Given the description of an element on the screen output the (x, y) to click on. 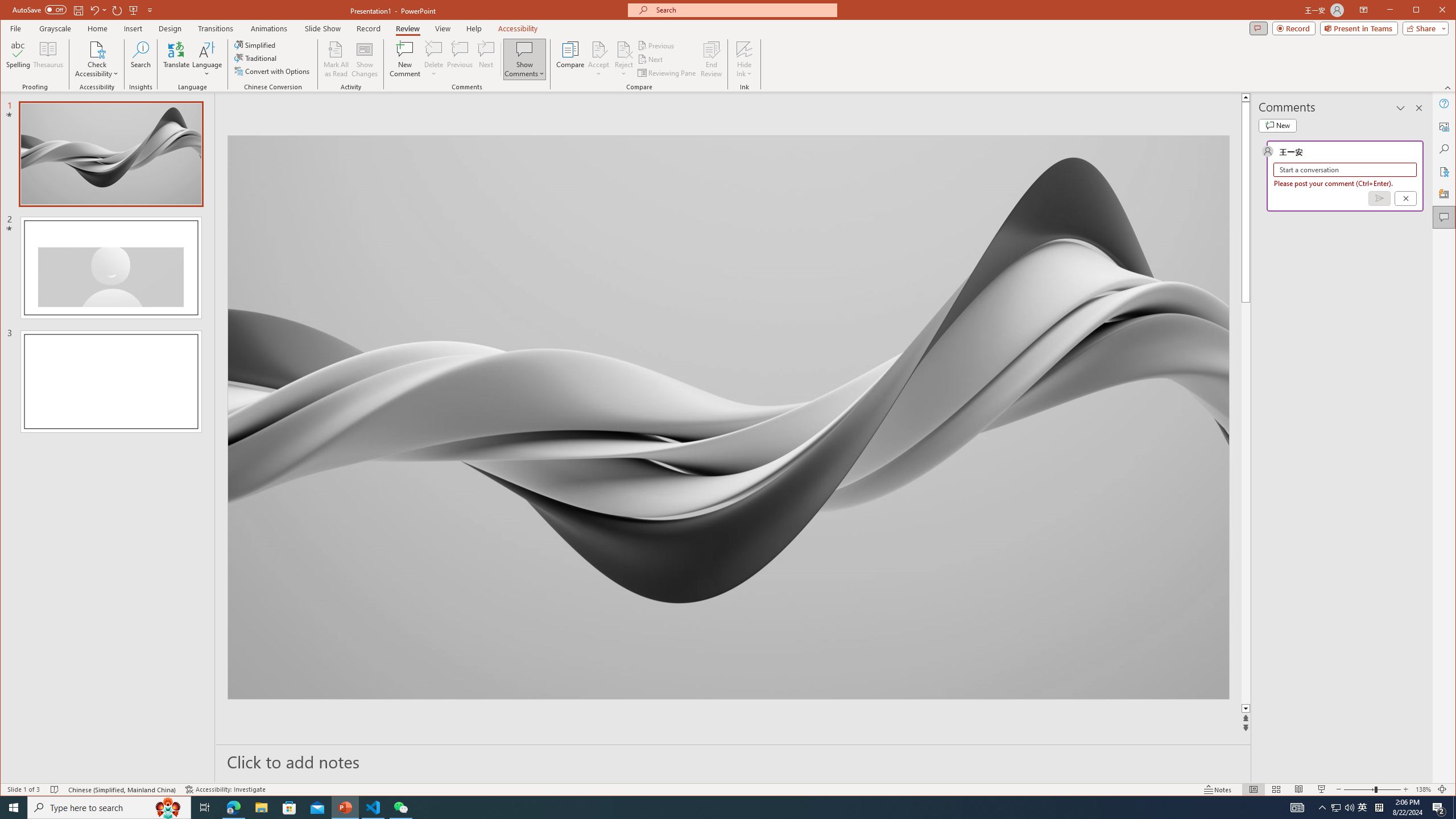
Show Changes (365, 59)
Simplified (255, 44)
Post comment (Ctrl + Enter) (1379, 197)
Accept Change (598, 48)
